Given the description of an element on the screen output the (x, y) to click on. 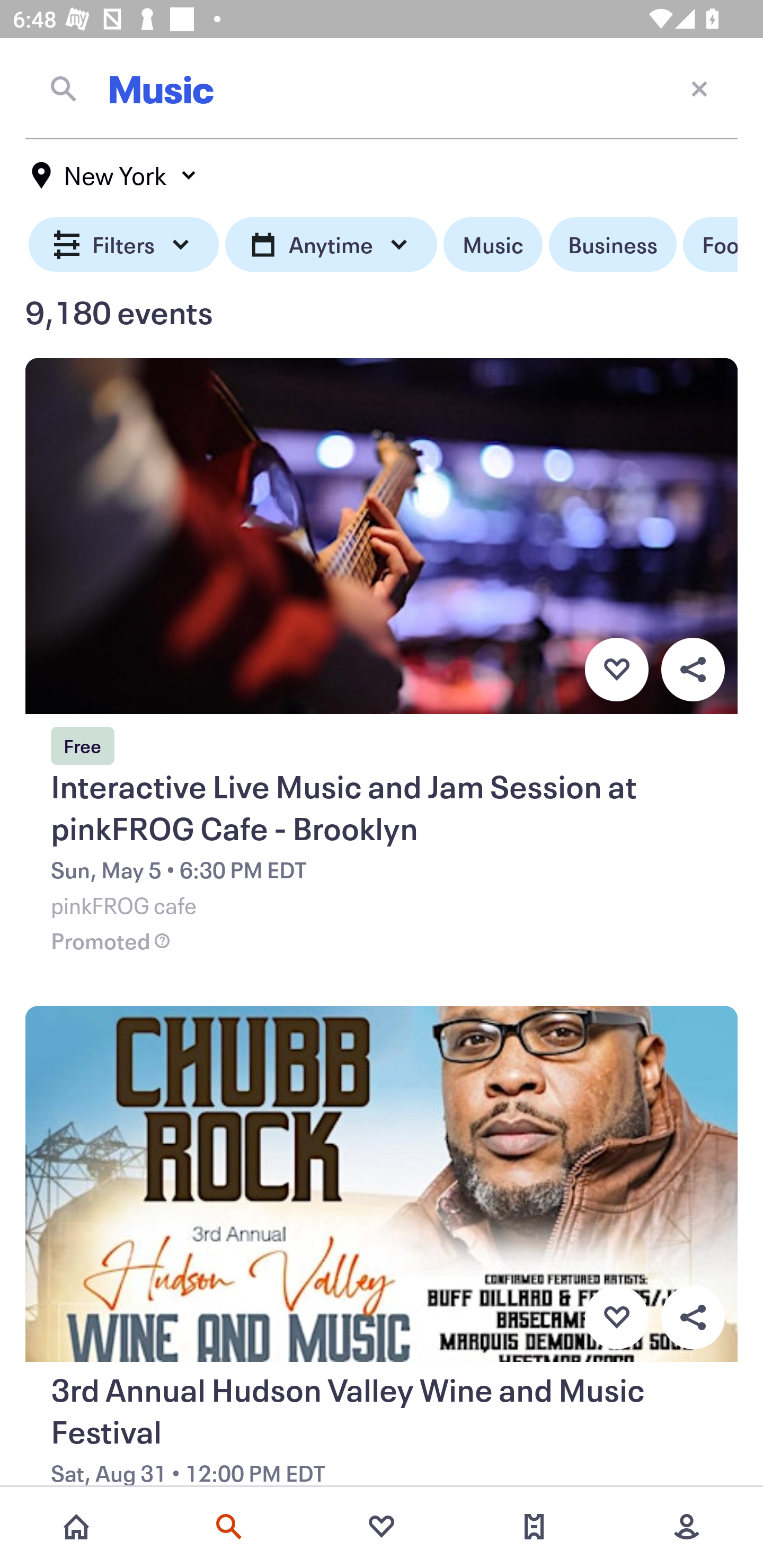
Music Close current screen (381, 88)
Close current screen (699, 88)
New York (114, 175)
Filters (123, 244)
Anytime (331, 244)
Music (492, 244)
Business (612, 244)
Favorite button (616, 669)
Overflow menu button (692, 669)
Favorite button (616, 1317)
Overflow menu button (692, 1317)
Home (76, 1526)
Search events (228, 1526)
Favorites (381, 1526)
Tickets (533, 1526)
More (686, 1526)
